Given the description of an element on the screen output the (x, y) to click on. 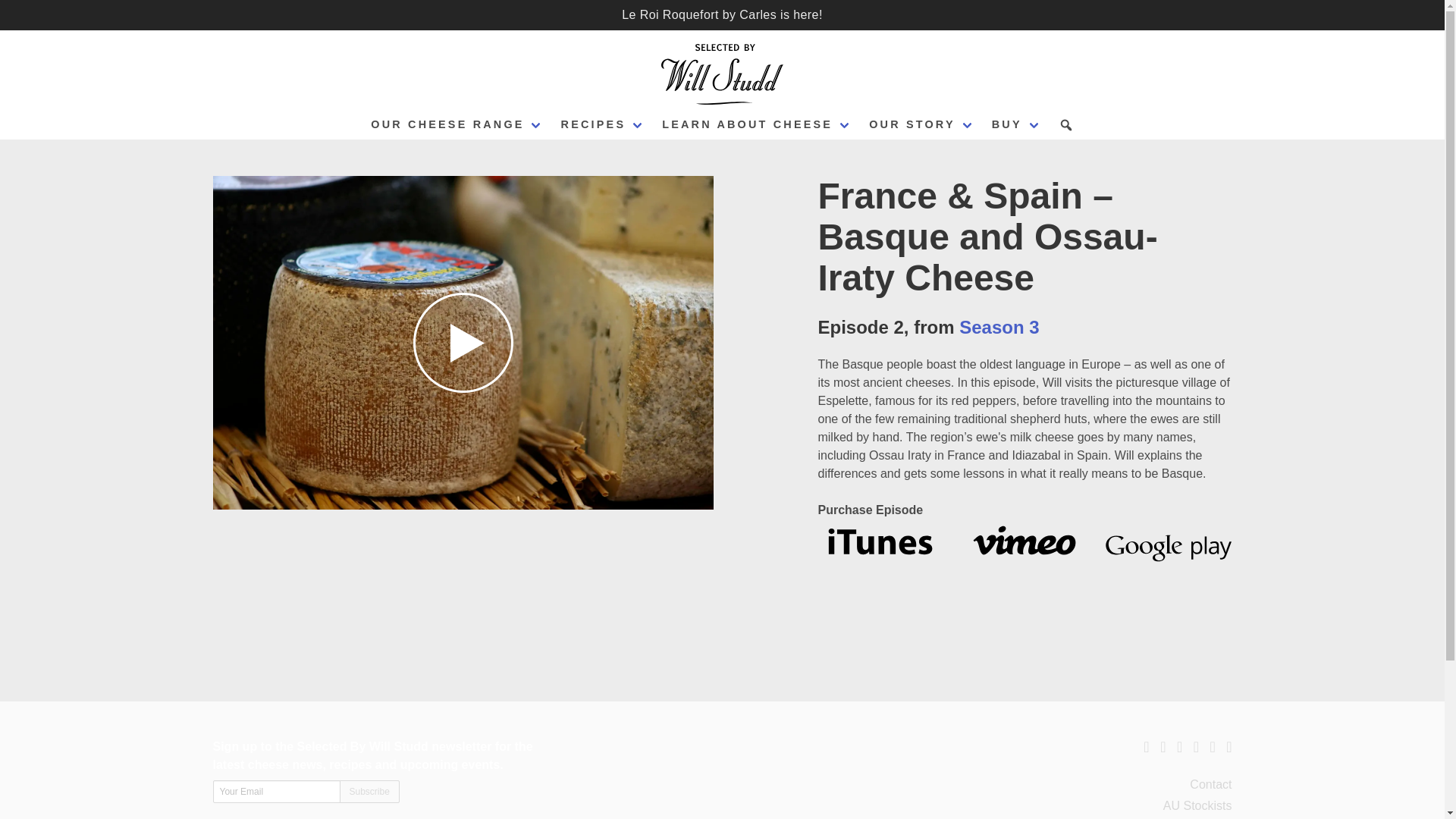
RECIPES (602, 124)
Season 3 (999, 326)
BUY (1015, 124)
OUR CHEESE RANGE (456, 124)
Le Roi Roquefort by Carles is here! (721, 14)
OUR STORY (921, 124)
Subscribe (368, 791)
Will Studd (722, 73)
LEARN ABOUT CHEESE (756, 124)
